Given the description of an element on the screen output the (x, y) to click on. 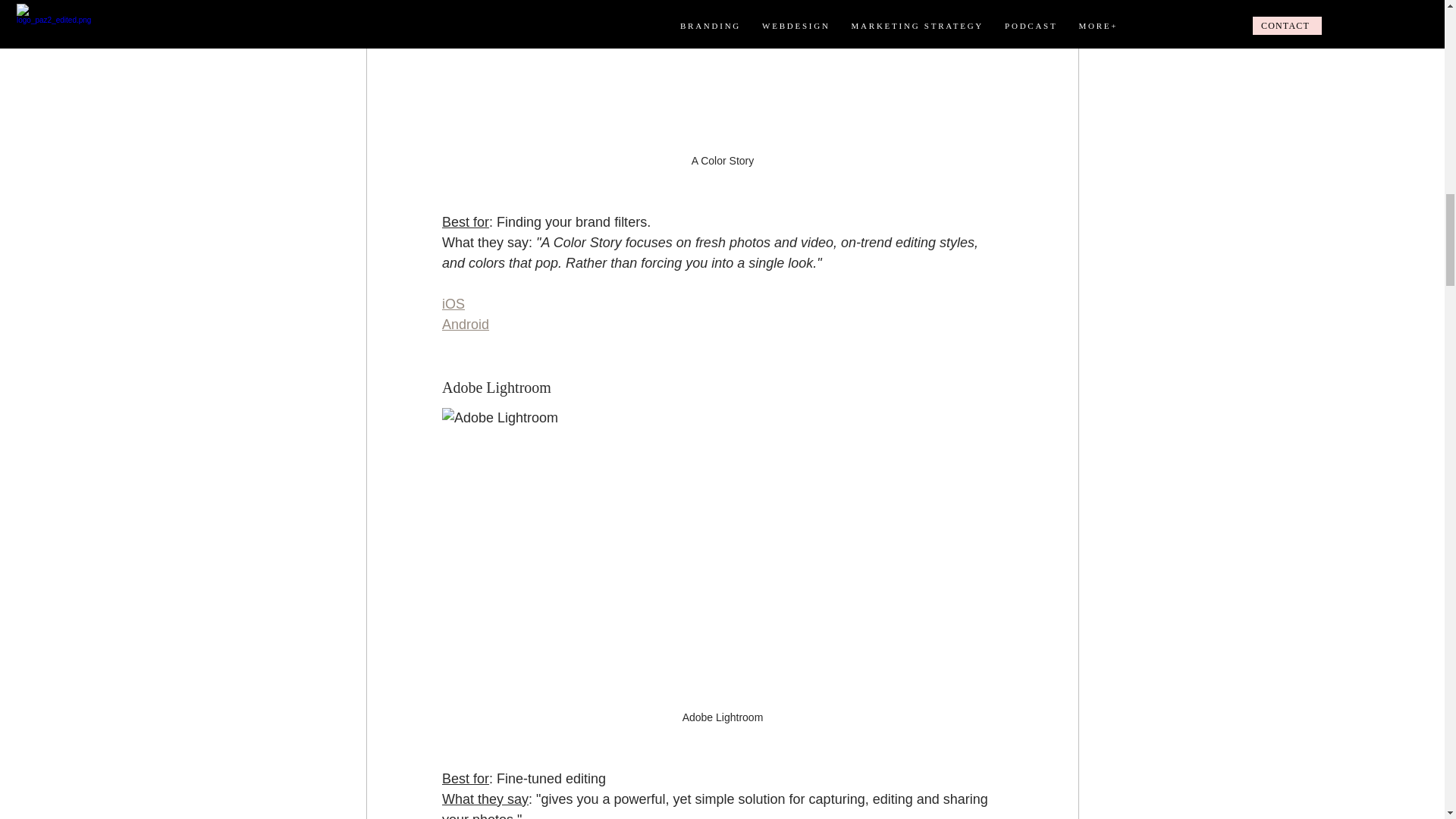
Android (464, 324)
iOS (452, 304)
